Given the description of an element on the screen output the (x, y) to click on. 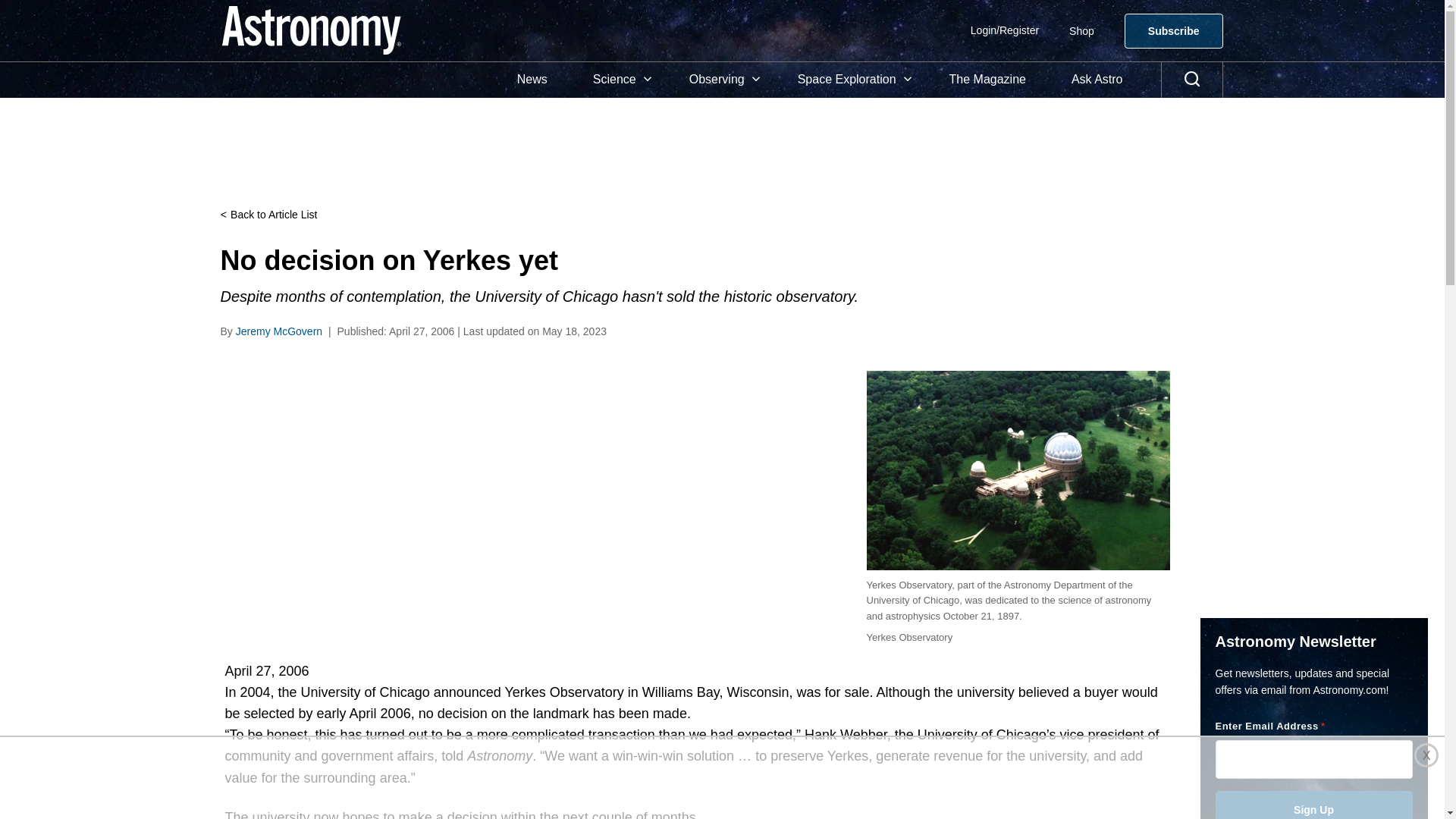
Observing (720, 79)
Shop (1081, 30)
Science (618, 79)
The Magazine (987, 79)
Space Exploration (850, 79)
Subscribe (1173, 30)
Search (1192, 79)
News (532, 79)
Sign Up (1313, 805)
Ask Astro (1096, 79)
3rd party ad content (694, 143)
3rd party ad content (721, 777)
Posts by Jeremy McGovern (278, 331)
